Given the description of an element on the screen output the (x, y) to click on. 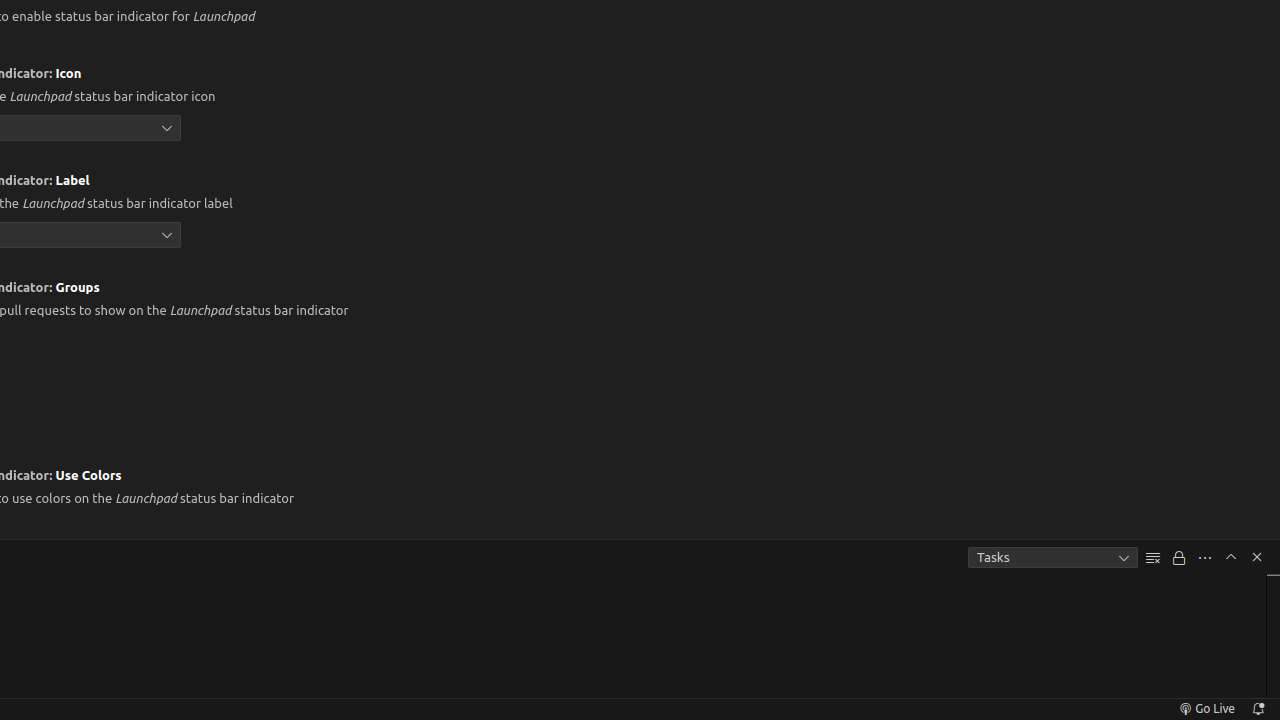
Tasks Element type: menu-item (1053, 557)
Notifications Element type: push-button (1258, 709)
Turn Auto Scrolling Off Element type: check-box (1179, 557)
